Given the description of an element on the screen output the (x, y) to click on. 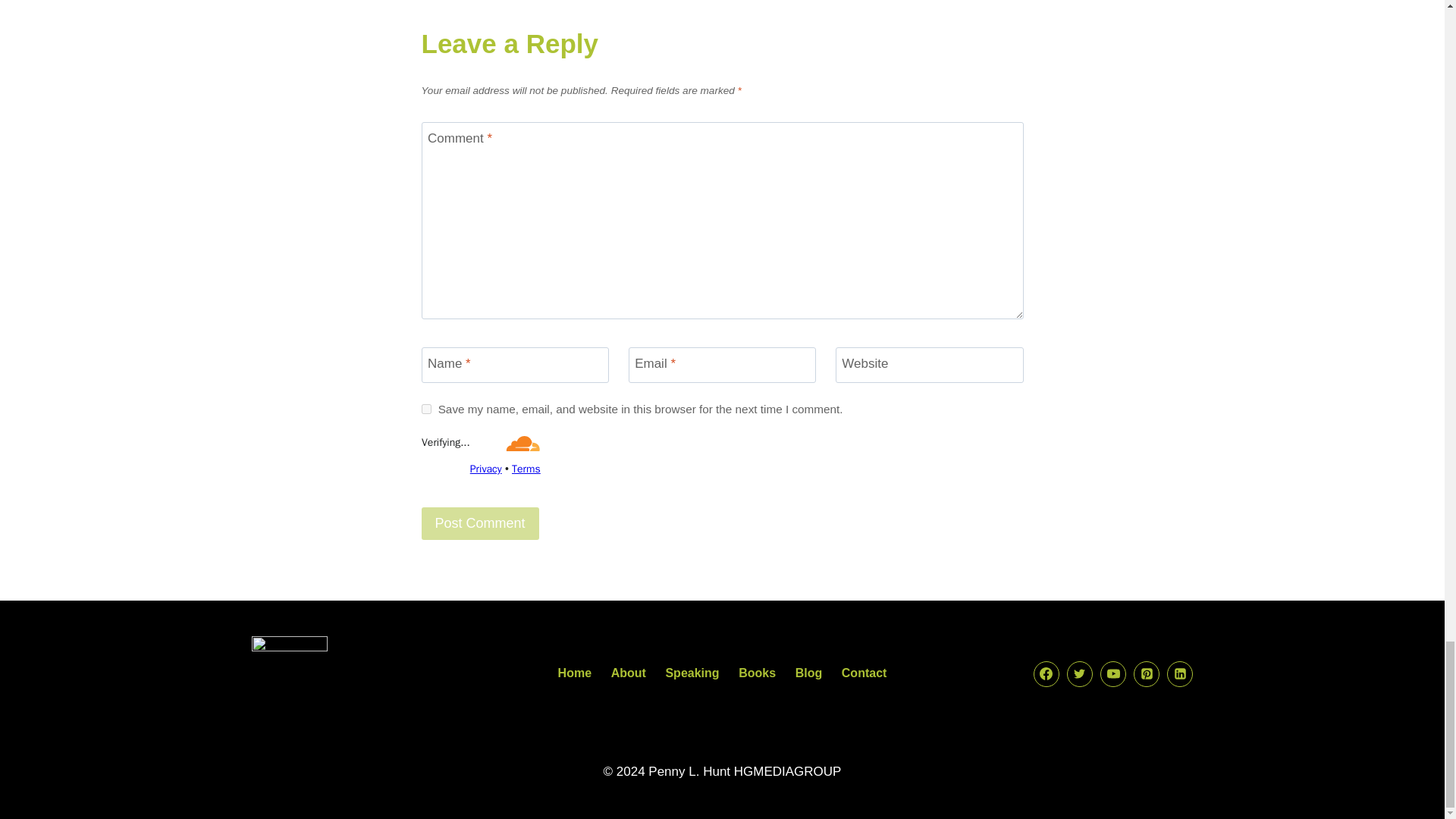
yes (426, 409)
Post Comment (480, 522)
